Given the description of an element on the screen output the (x, y) to click on. 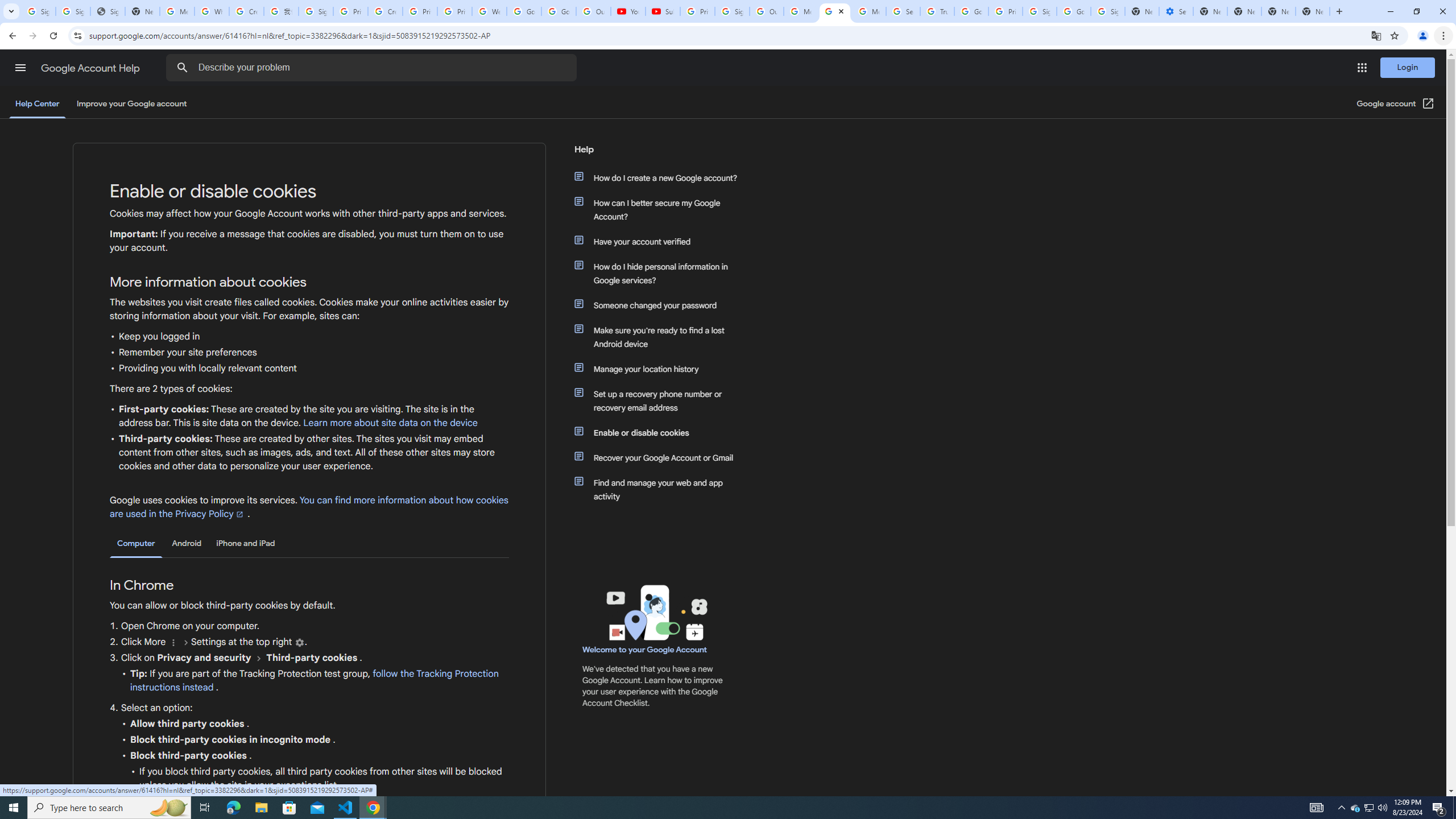
Create your Google Account (384, 11)
Welcome to My Activity (489, 11)
Trusted Information and Content - Google Safety Center (937, 11)
Who is my administrator? - Google Account Help (211, 11)
Google Account Help (91, 68)
Subscriptions - YouTube (662, 11)
Sign In - USA TODAY (107, 11)
Google Account (557, 11)
Google Ads - Sign in (970, 11)
Sign in - Google Accounts (73, 11)
